Given the description of an element on the screen output the (x, y) to click on. 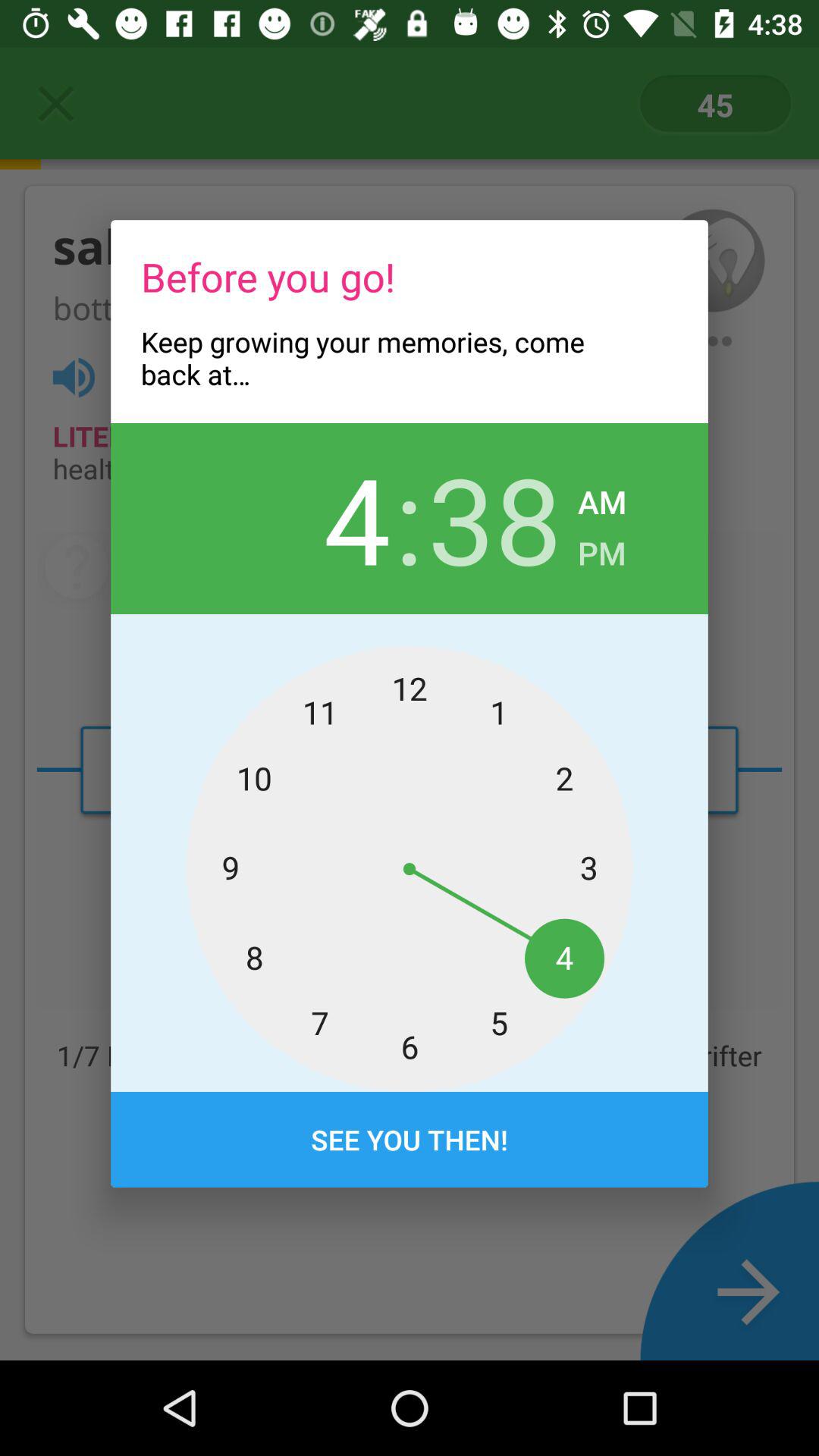
turn off the icon next to am (494, 518)
